Given the description of an element on the screen output the (x, y) to click on. 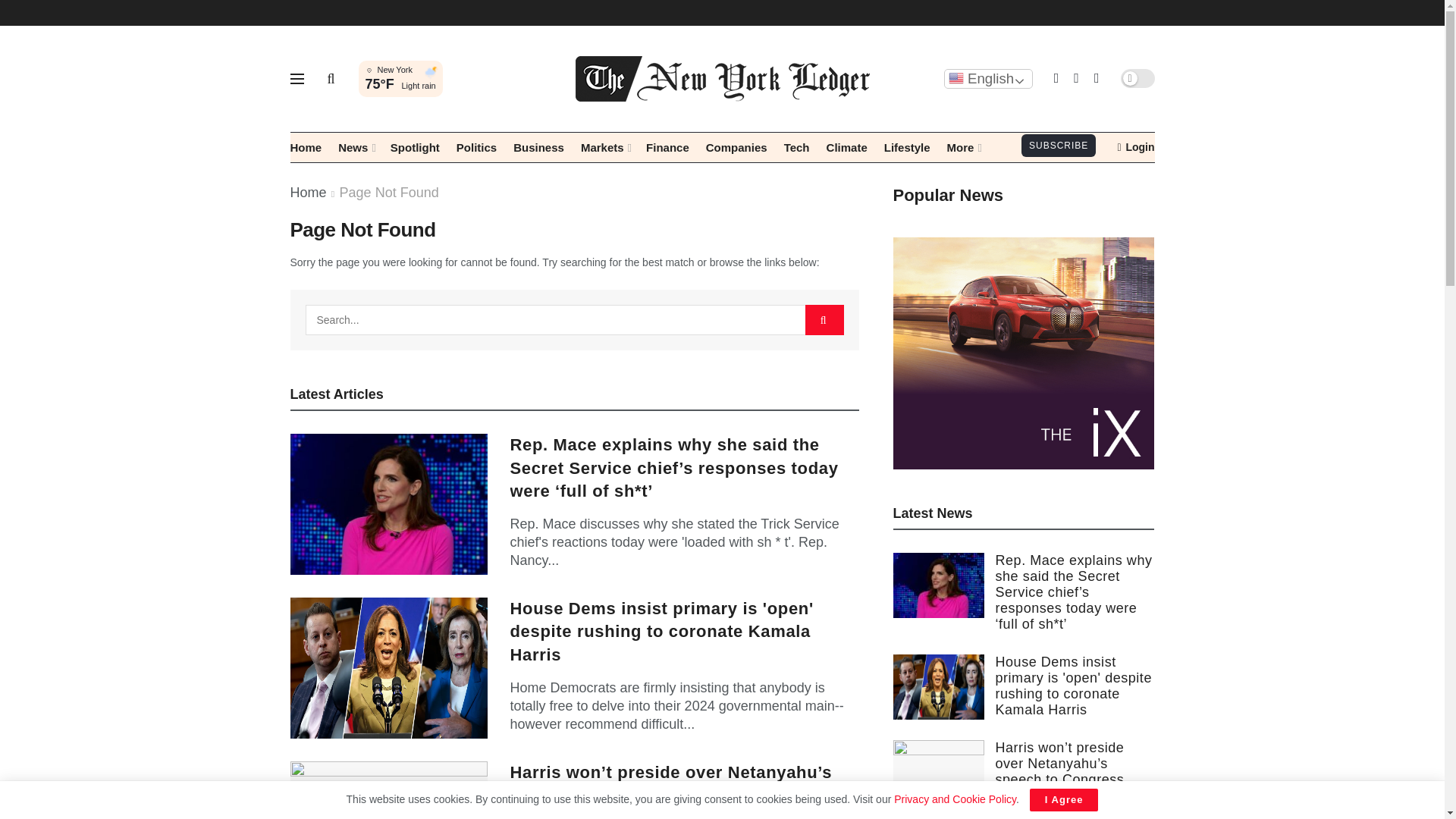
News (355, 147)
English (987, 78)
Home (305, 147)
